Given the description of an element on the screen output the (x, y) to click on. 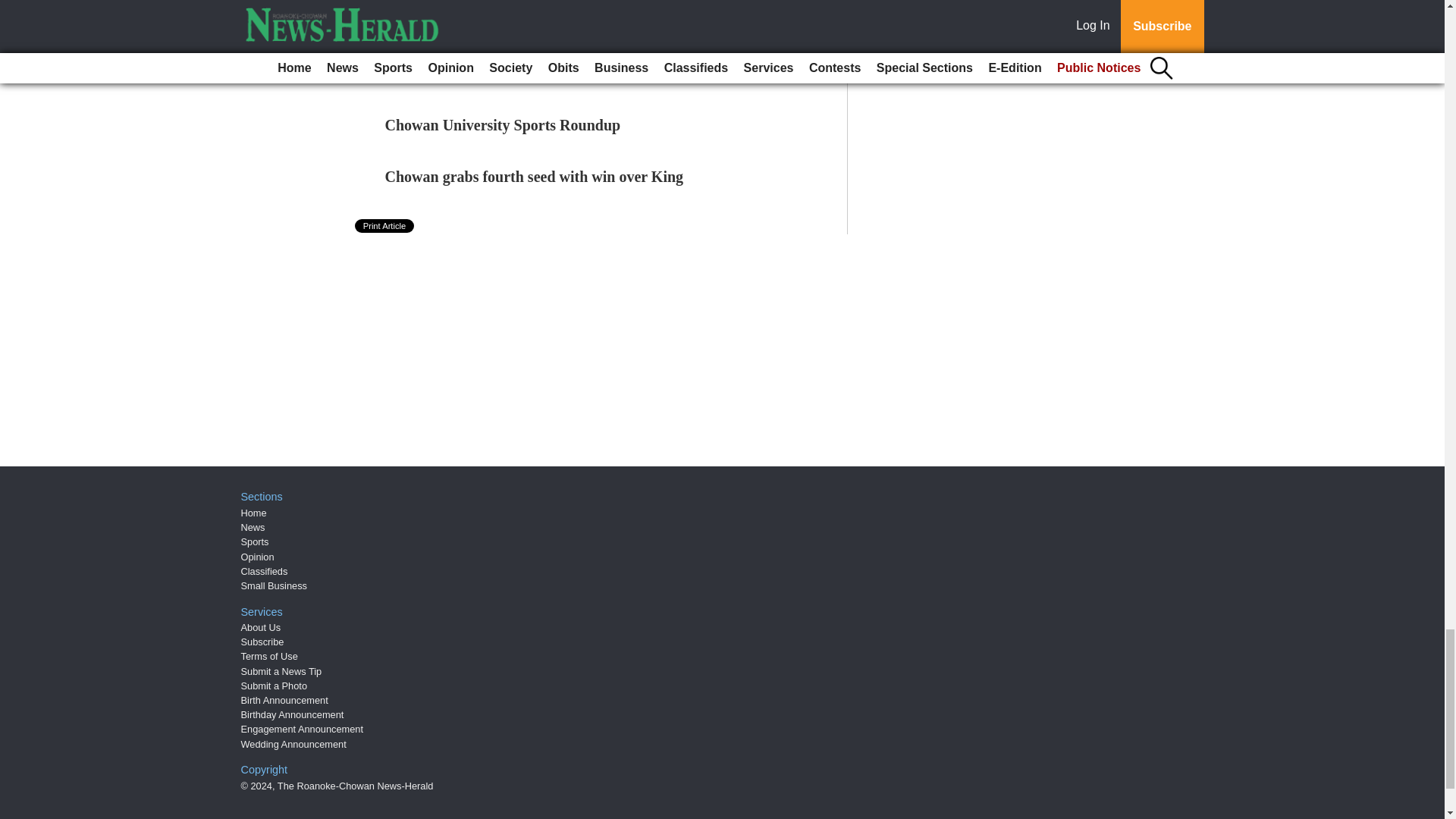
Martin breaks career points mark in loss at Barton (550, 21)
Chowan grabs fourth seed with win over King (534, 176)
Chowan University Sports Roundup (503, 125)
Martin breaks career points mark in loss at Barton (550, 21)
Print Article (384, 225)
Chowan football releases 2022 schedule (512, 73)
Chowan grabs fourth seed with win over King (534, 176)
Chowan University Sports Roundup (503, 125)
Chowan football releases 2022 schedule (512, 73)
